Given the description of an element on the screen output the (x, y) to click on. 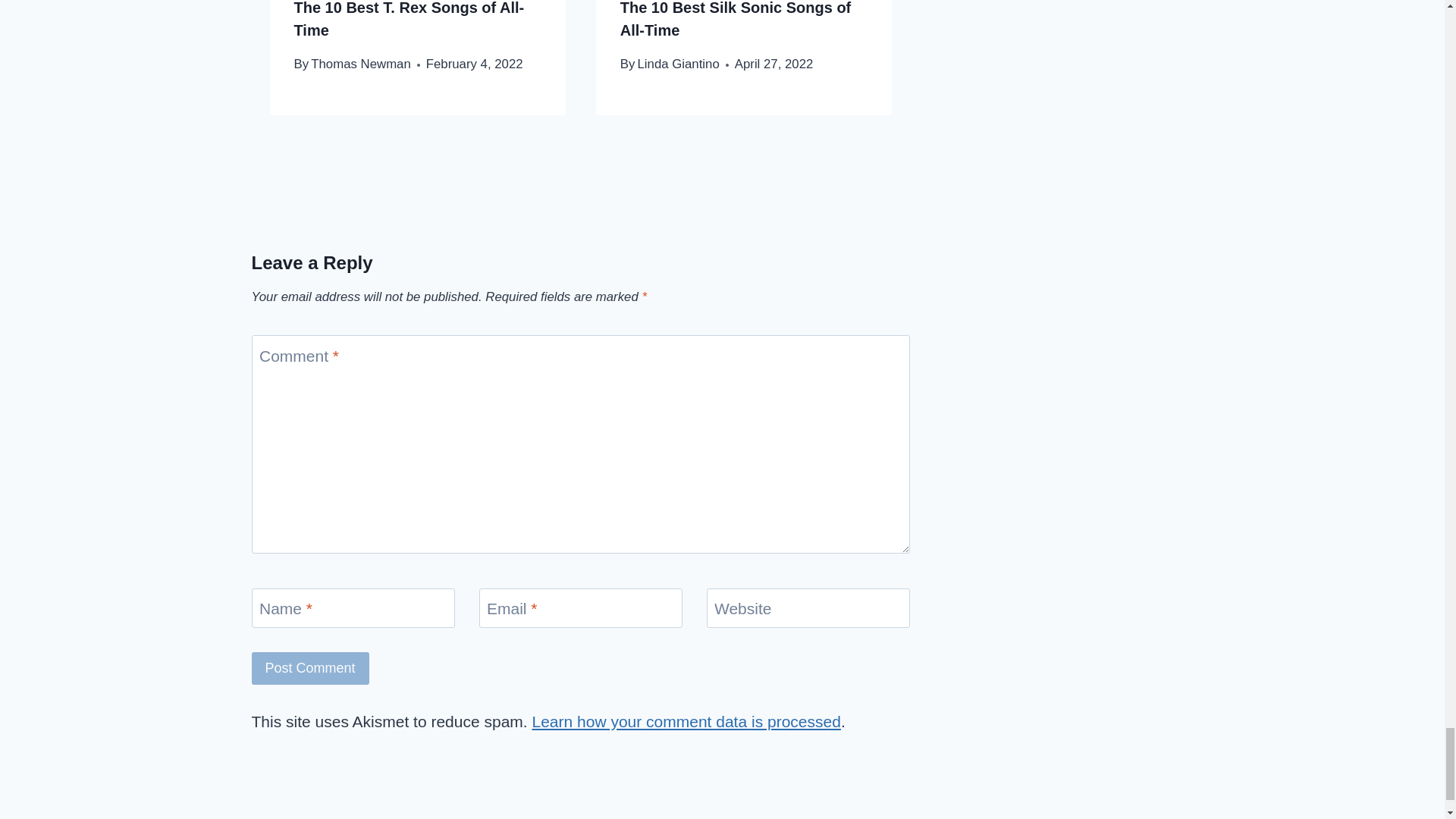
Post Comment (310, 667)
